Given the description of an element on the screen output the (x, y) to click on. 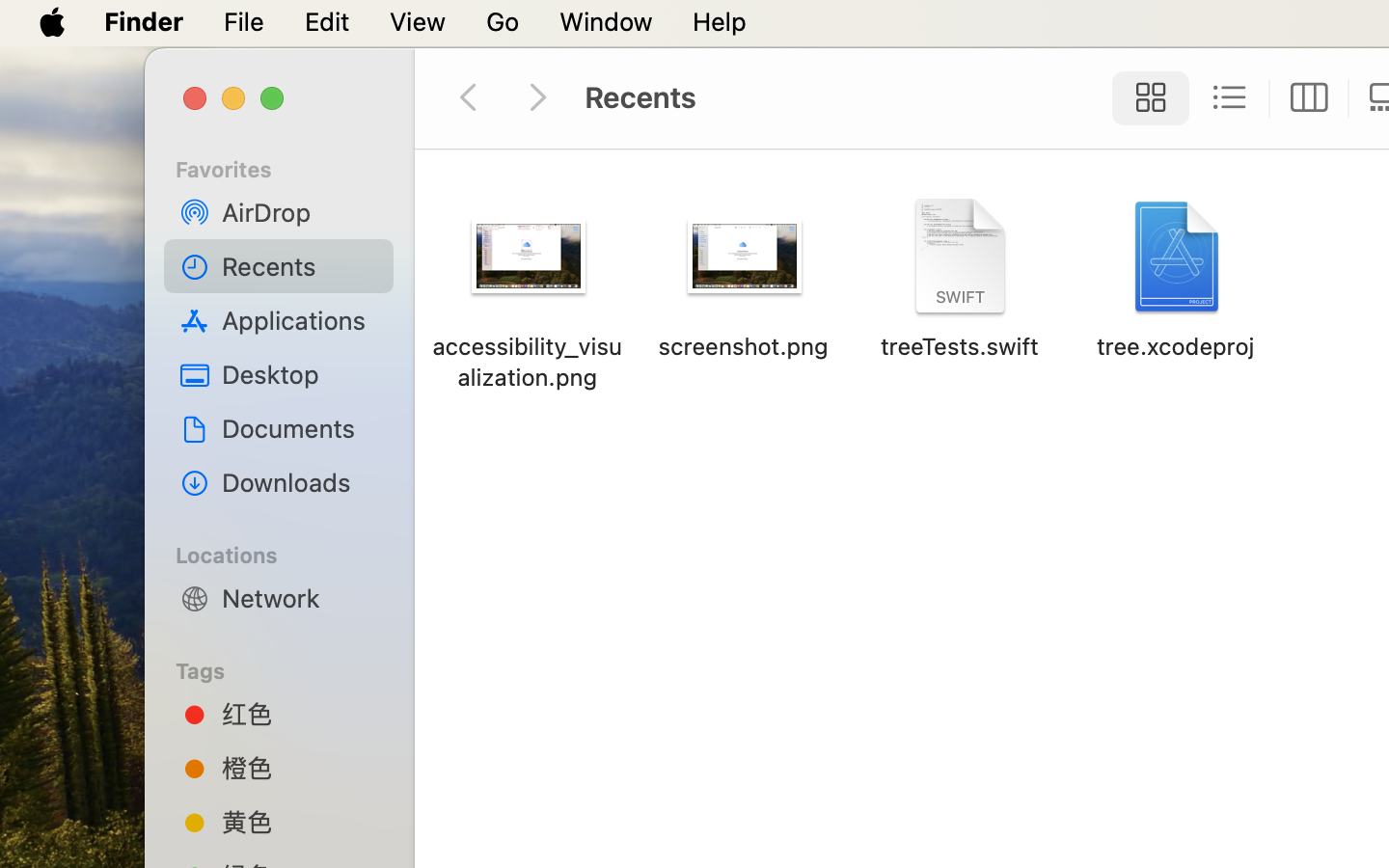
Applications Element type: AXStaticText (299, 319)
0 Element type: AXRadioButton (1308, 97)
橙色 Element type: AXStaticText (299, 767)
Locations Element type: AXStaticText (289, 552)
Desktop Element type: AXStaticText (299, 373)
